Given the description of an element on the screen output the (x, y) to click on. 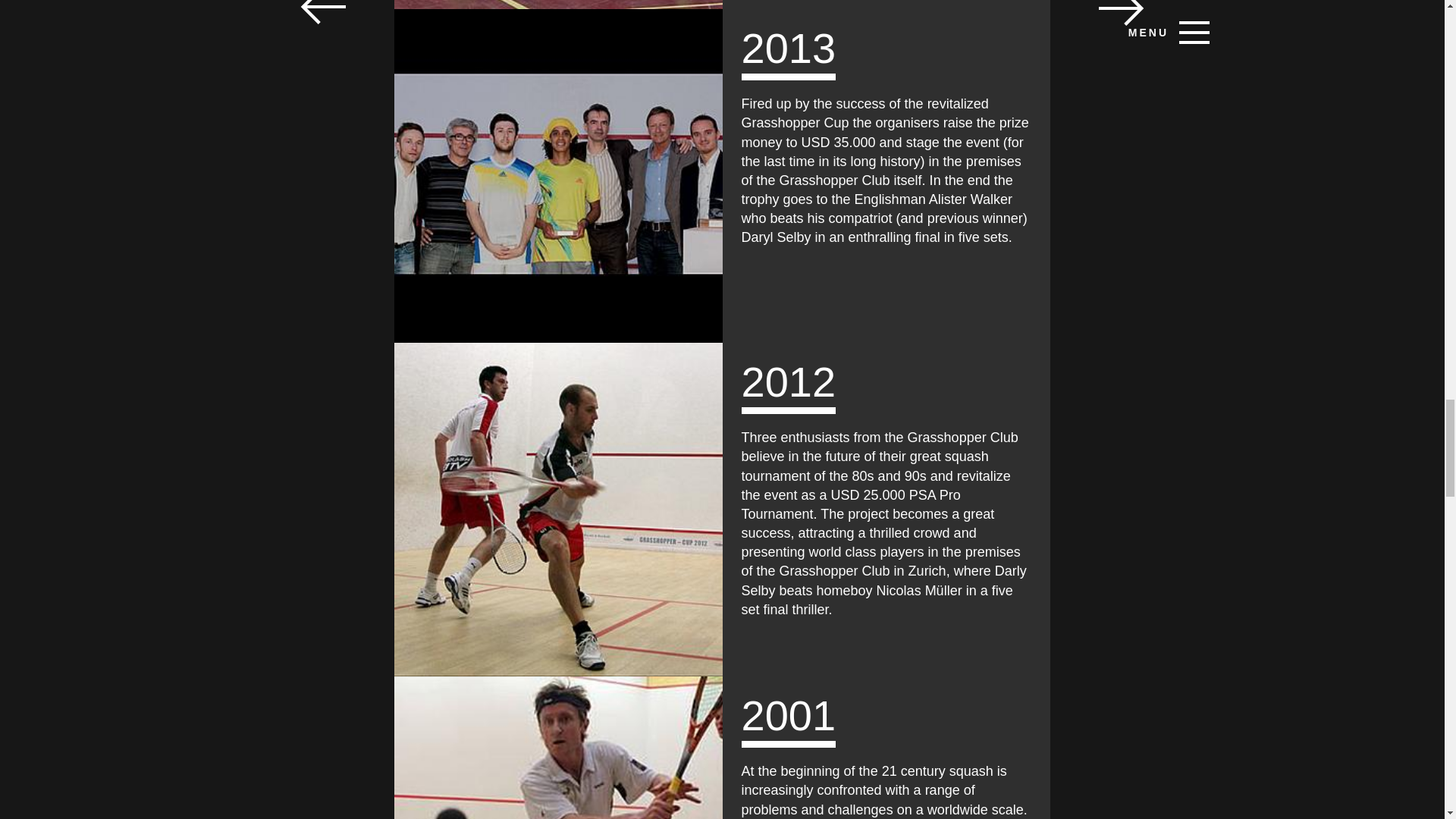
Next (1122, 17)
2014 (558, 4)
2013 (558, 176)
2001 (558, 747)
Previous (322, 17)
2012 (558, 509)
